Given the description of an element on the screen output the (x, y) to click on. 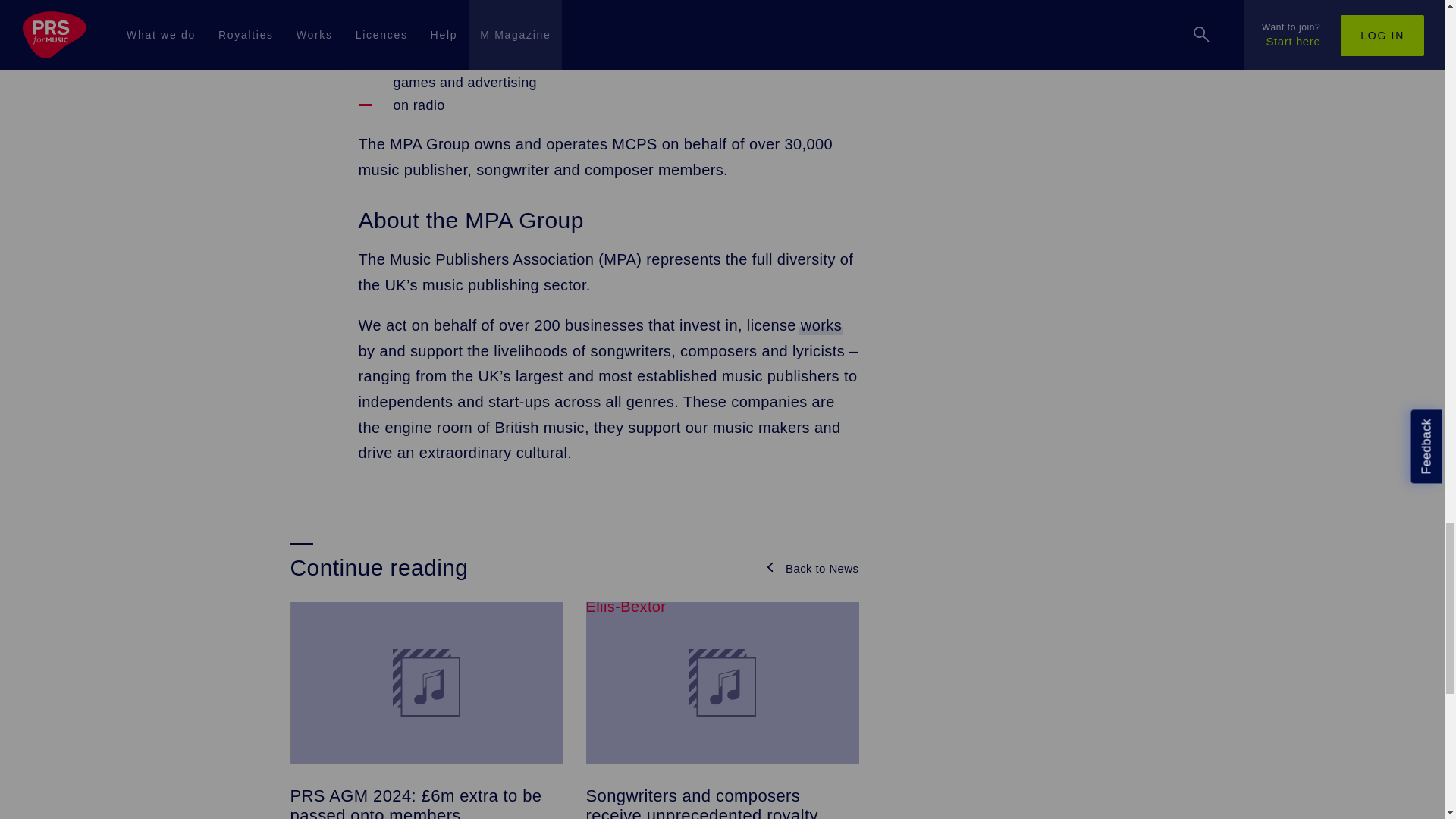
Back to News (810, 568)
What does this mean ?  (821, 324)
